Given the description of an element on the screen output the (x, y) to click on. 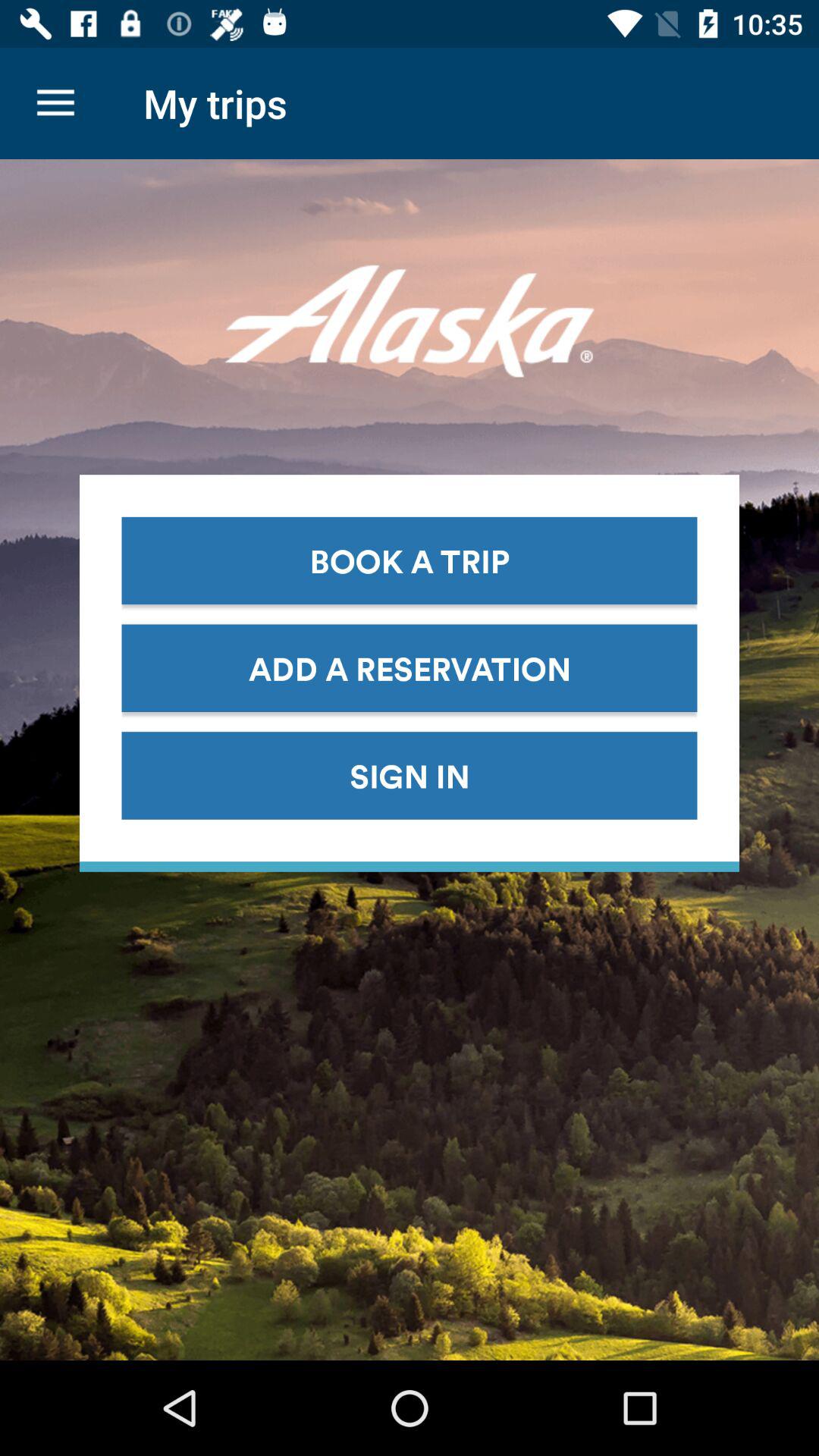
launch icon below add a reservation icon (409, 775)
